Given the description of an element on the screen output the (x, y) to click on. 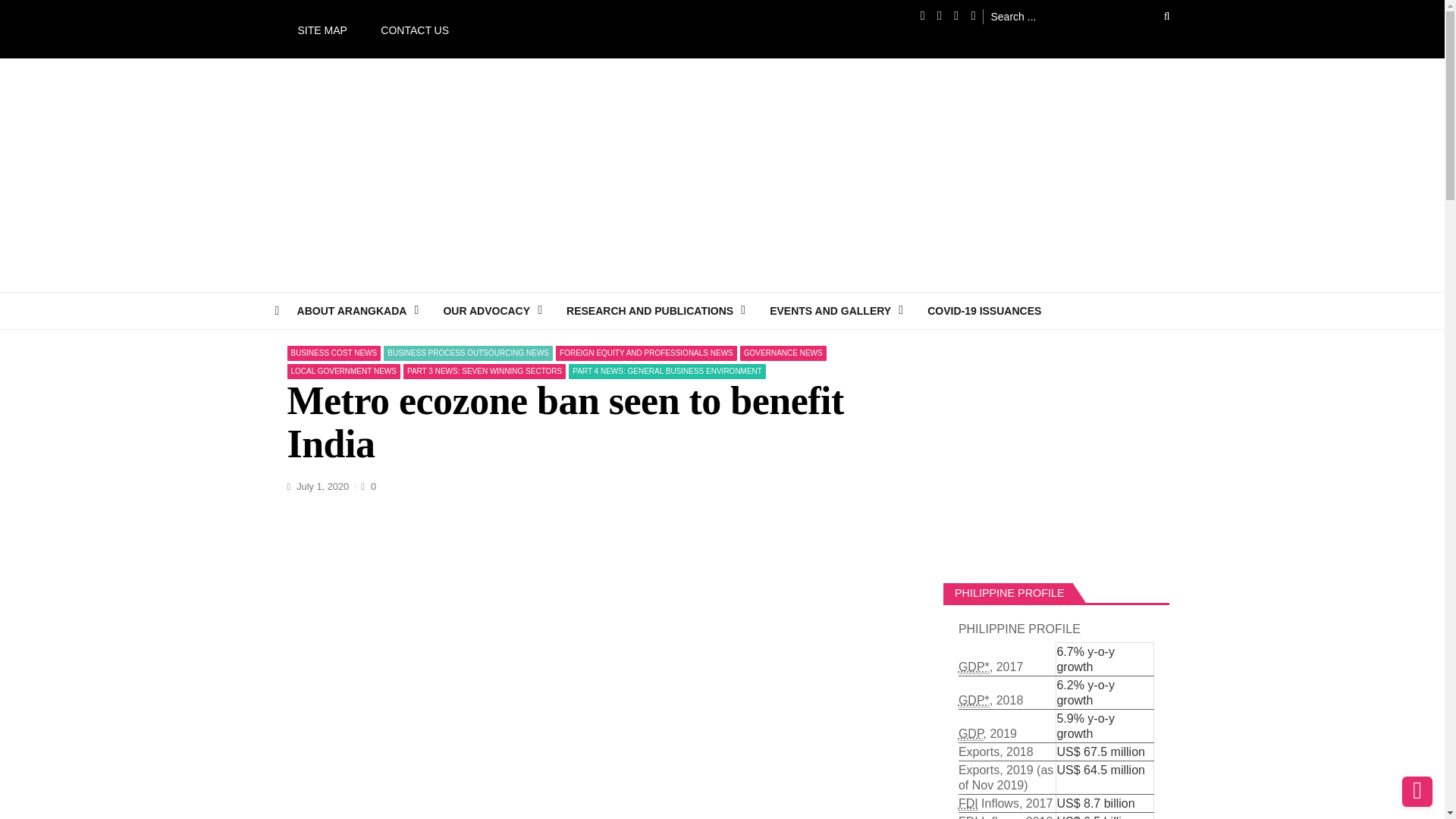
Gross Domestic Product (974, 667)
Search (1156, 15)
Foreign Direct Investment (968, 803)
Foreign Direct Investment (968, 816)
Search (1156, 15)
Gross Domestic Product (974, 700)
Gross Domestic Product (971, 734)
